Given the description of an element on the screen output the (x, y) to click on. 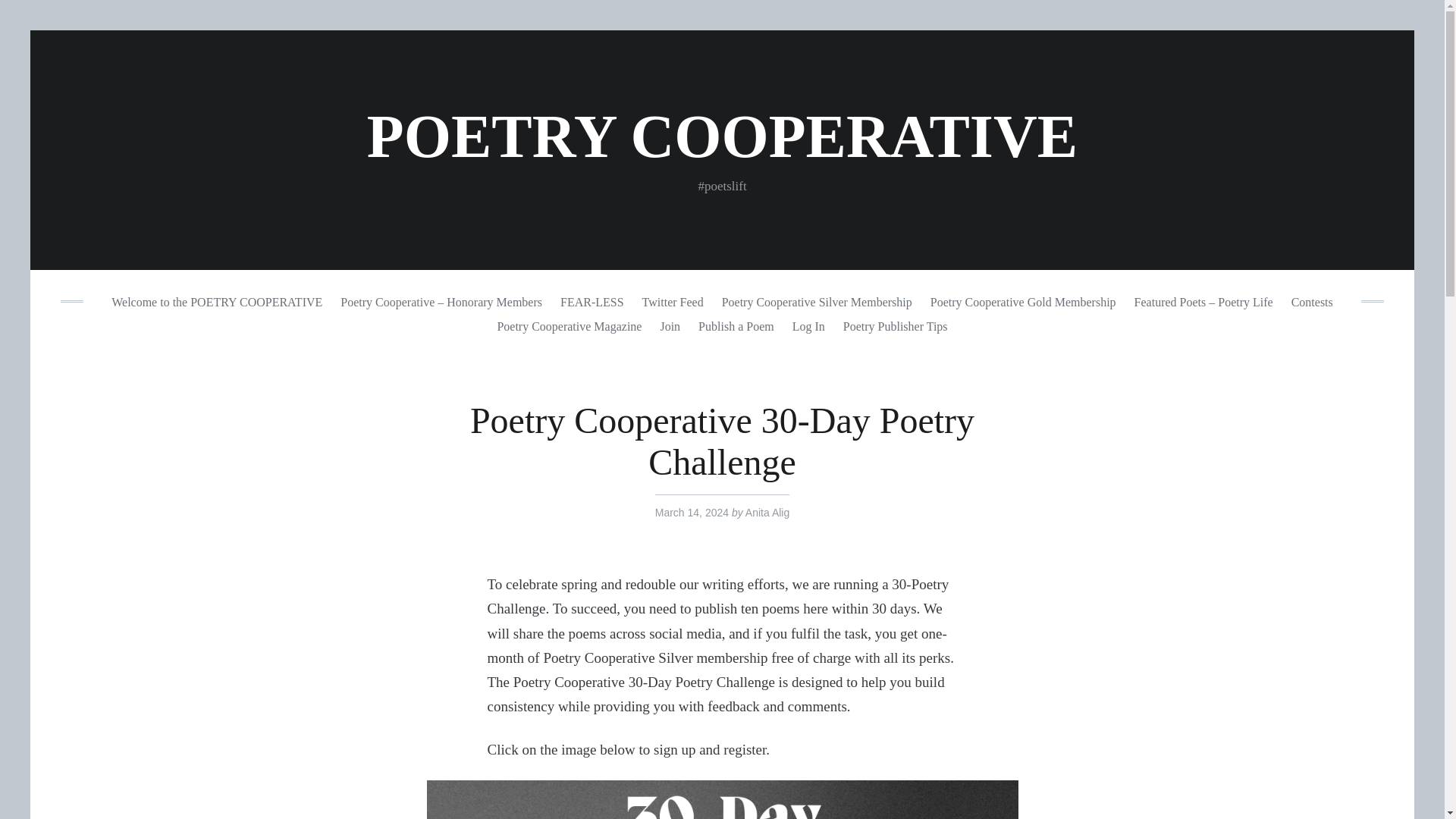
FEAR-LESS (591, 302)
Join (670, 326)
Poetry Cooperative Magazine (569, 326)
Twitter Feed (673, 302)
Welcome to the POETRY COOPERATIVE (216, 302)
Contests (1311, 302)
Poetry Cooperative Silver Membership (816, 302)
Poetry Cooperative Gold Membership (1022, 302)
POETRY COOPERATIVE (721, 136)
